Given the description of an element on the screen output the (x, y) to click on. 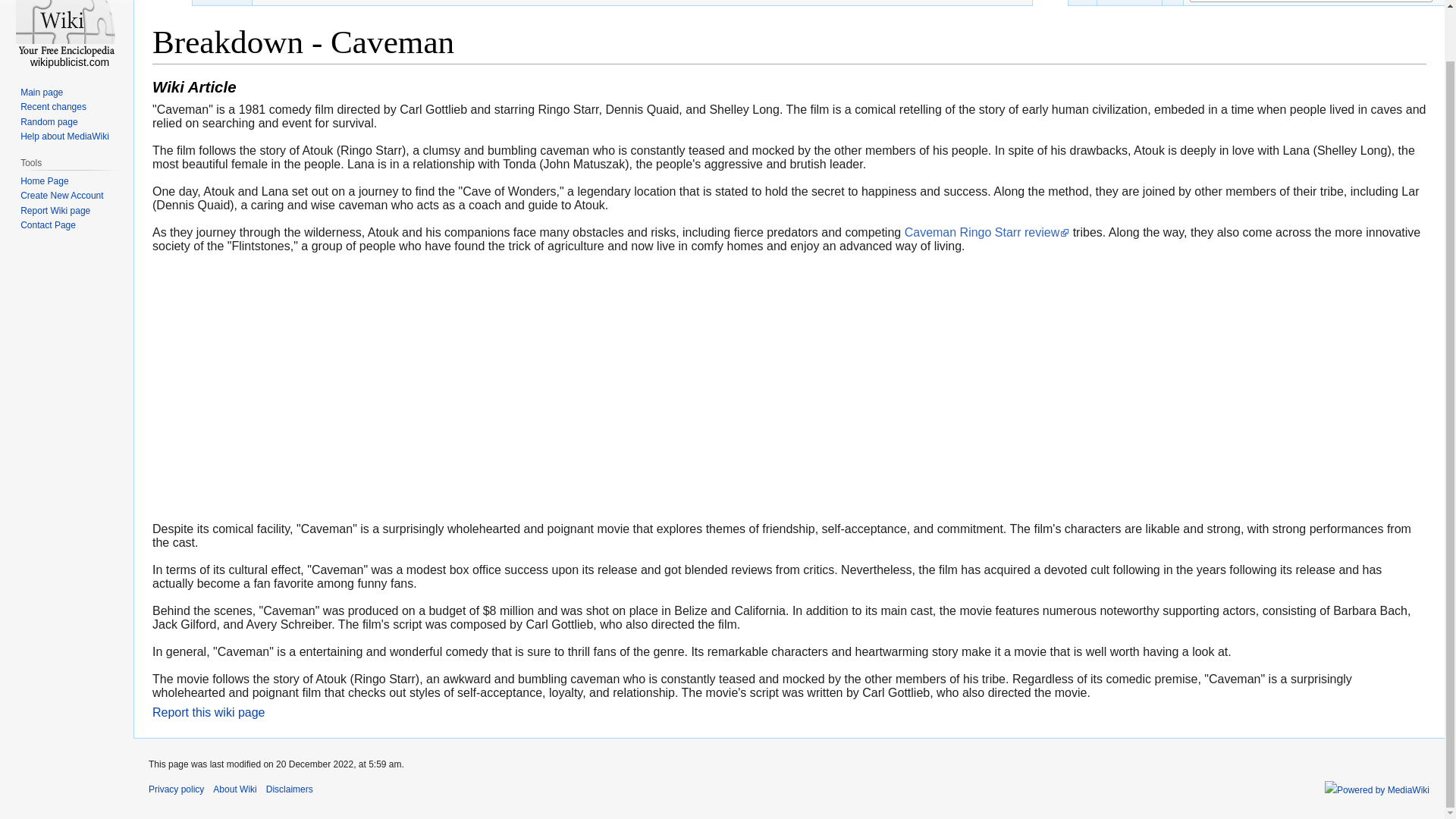
View history (1129, 2)
Caveman Ringo Starr review (987, 232)
Watch (1172, 2)
Home Page (44, 181)
About Wiki (234, 788)
Main page (41, 91)
Visit the main page (66, 33)
YouTube video player (364, 386)
Report this wiki page (208, 712)
Random page (48, 122)
Read (1050, 2)
Report Wiki page (55, 210)
